Given the description of an element on the screen output the (x, y) to click on. 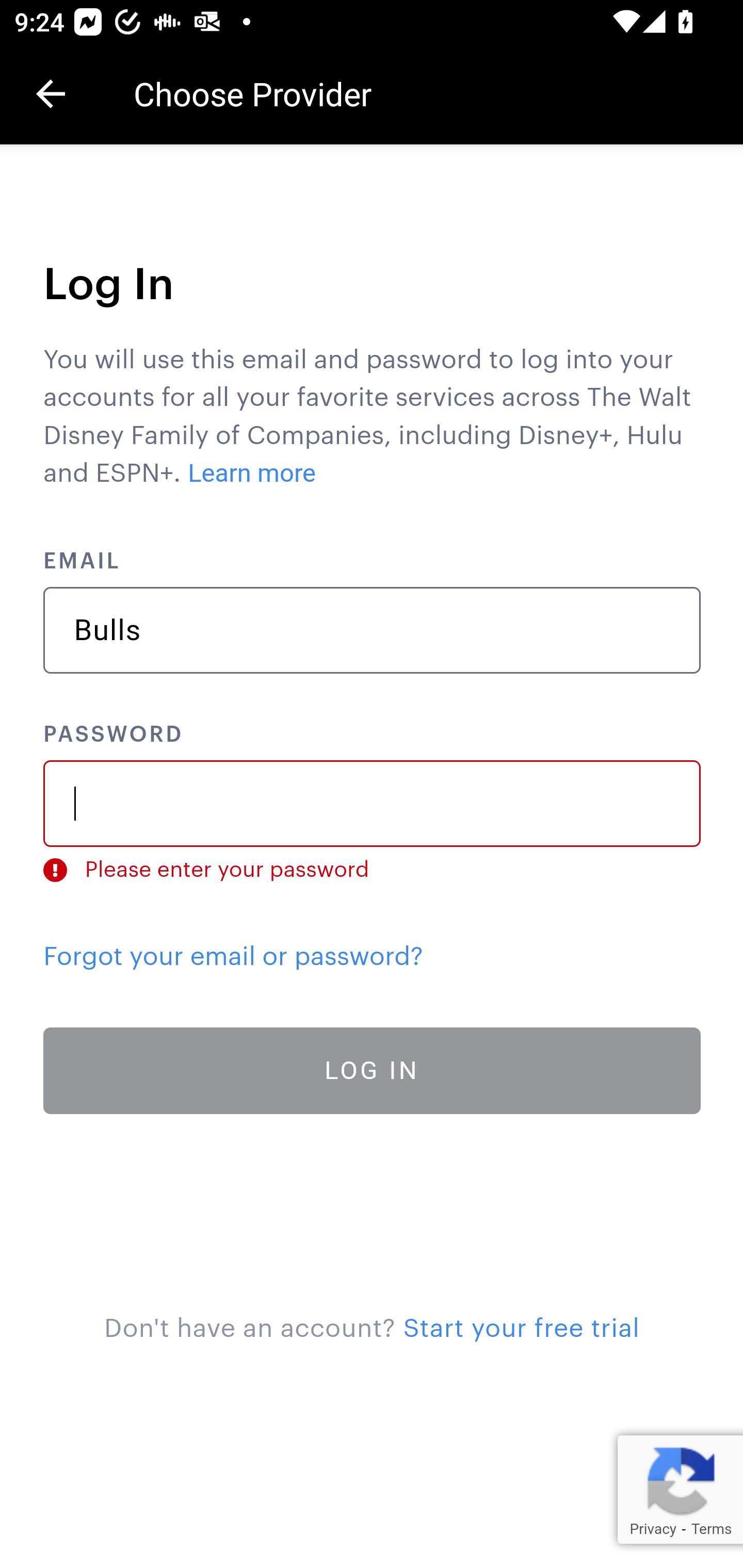
Navigate up (50, 93)
Learn more (252, 473)
Bulls (372, 629)
Forgot your email or password? (233, 956)
LOG IN (372, 1070)
Start your free trial (521, 1328)
Privacy (652, 1528)
Terms (711, 1528)
